Given the description of an element on the screen output the (x, y) to click on. 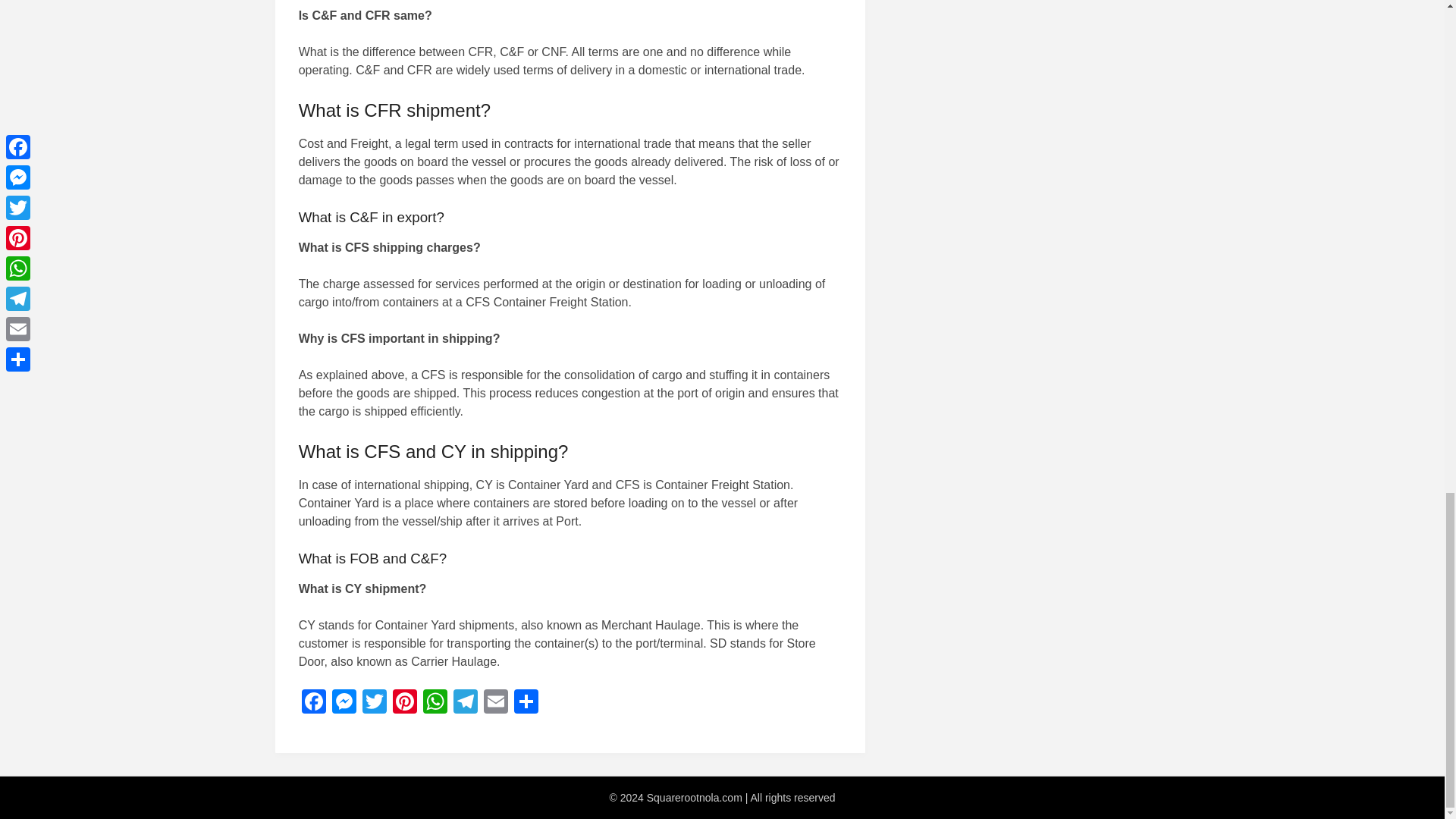
Facebook (313, 703)
WhatsApp (434, 703)
Facebook (313, 703)
Twitter (374, 703)
Telegram (464, 703)
Telegram (464, 703)
Email (495, 703)
Email (495, 703)
Messenger (344, 703)
WhatsApp (434, 703)
Twitter (374, 703)
Pinterest (405, 703)
Pinterest (405, 703)
Messenger (344, 703)
